Given the description of an element on the screen output the (x, y) to click on. 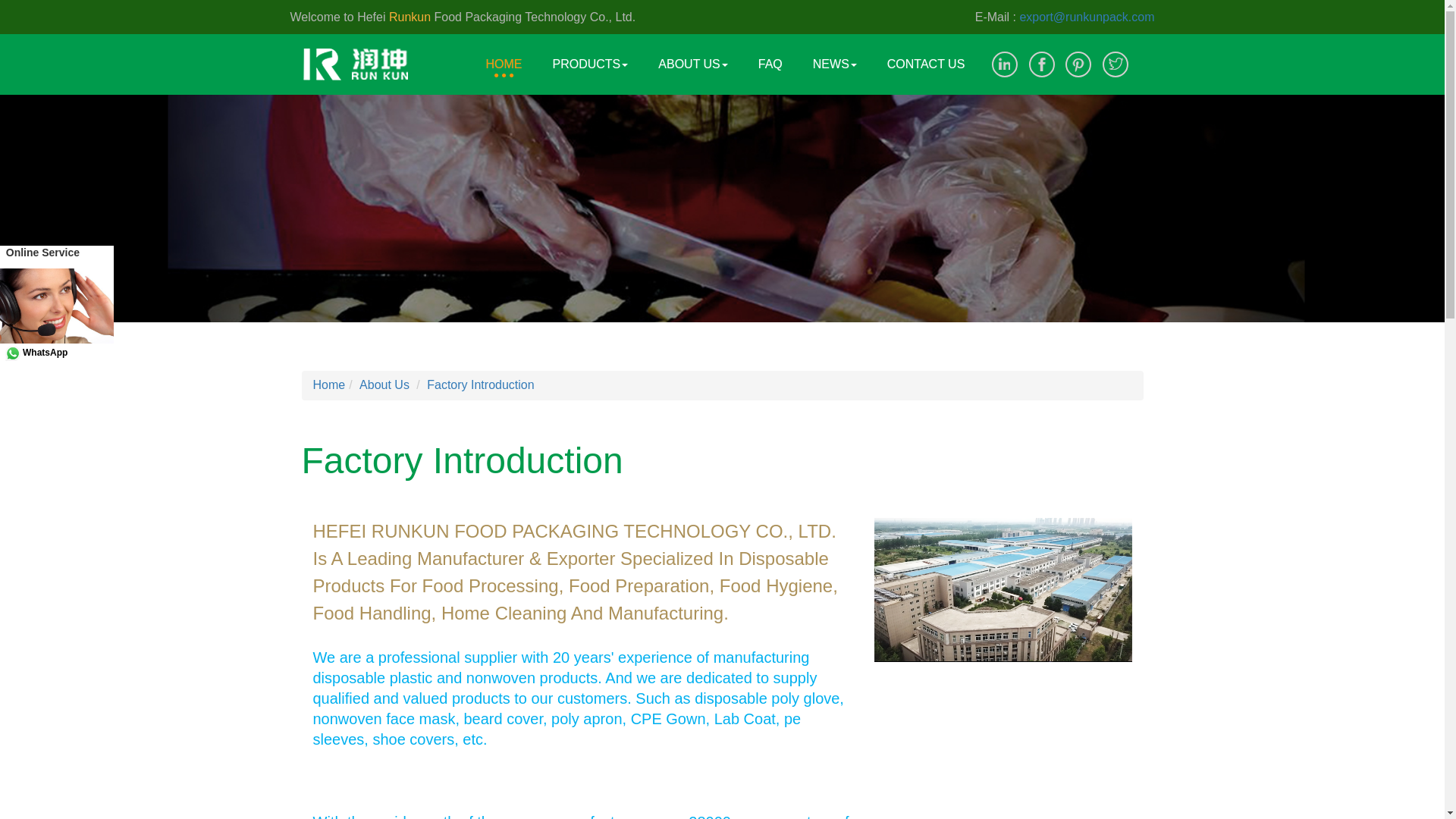
HOME (503, 53)
FAQ (769, 53)
NEWS (834, 53)
PRODUCTS (590, 53)
CONTACT US (925, 53)
ABOUT US (692, 53)
